Given the description of an element on the screen output the (x, y) to click on. 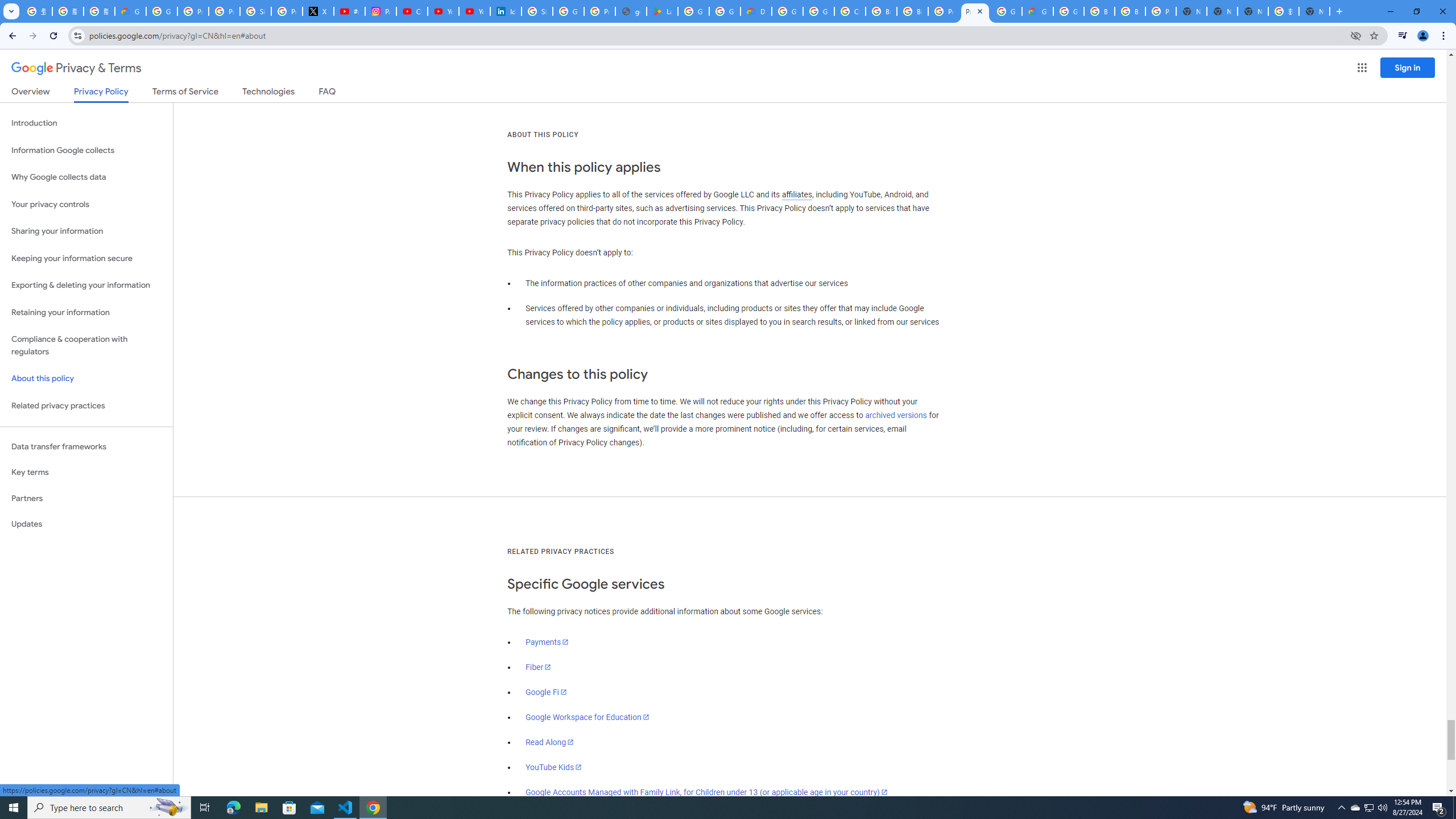
Why Google collects data (86, 176)
Your privacy controls (86, 204)
Retaining your information (86, 312)
